Given the description of an element on the screen output the (x, y) to click on. 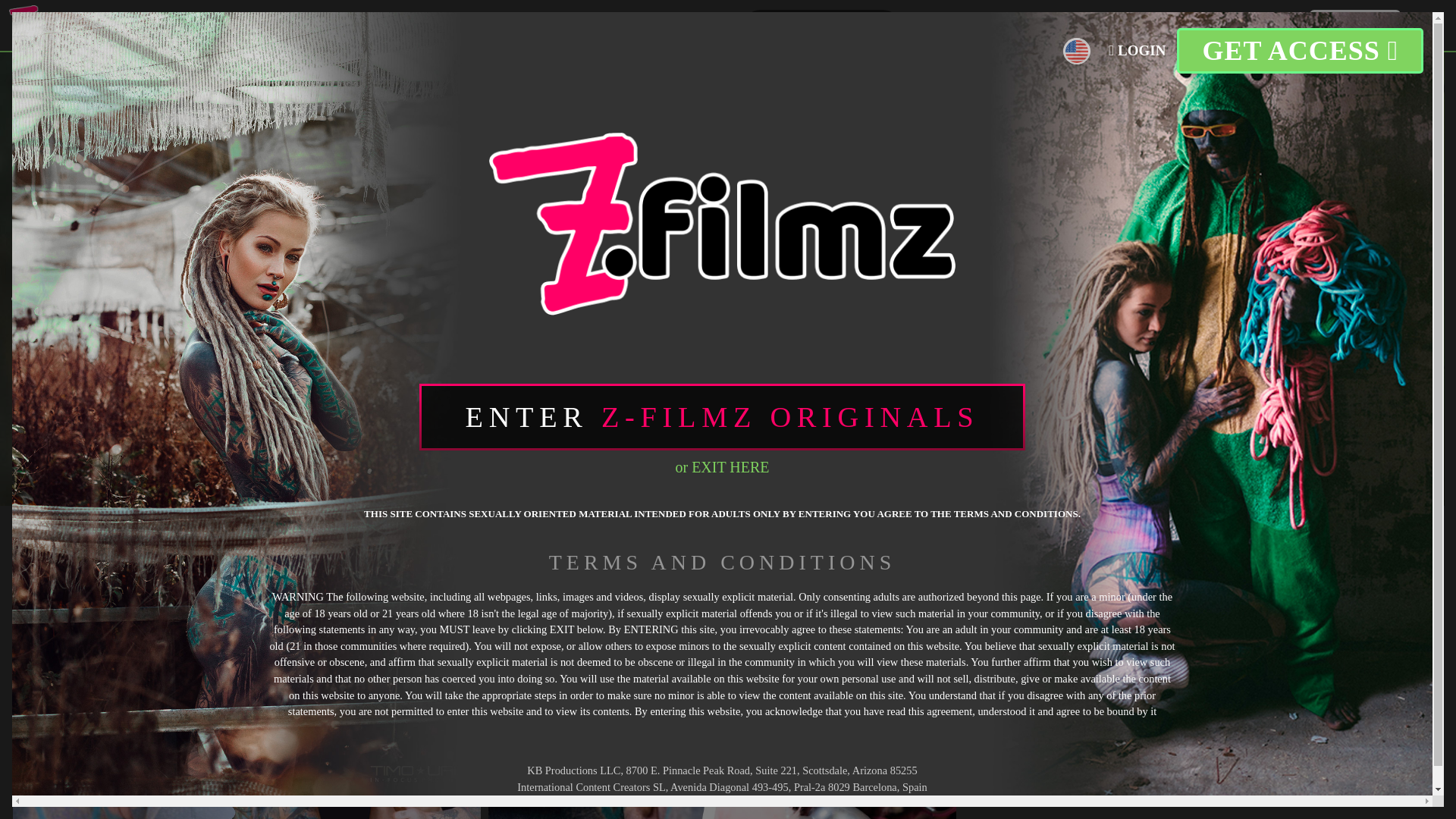
LOGIN (1272, 24)
JOIN NOW (1354, 24)
MODELS (389, 24)
PHOTOS (304, 24)
CHANNELZ (587, 25)
AWARDS (689, 24)
VIDEOS (222, 24)
HOME (147, 24)
ABOUT US (480, 24)
